Given the description of an element on the screen output the (x, y) to click on. 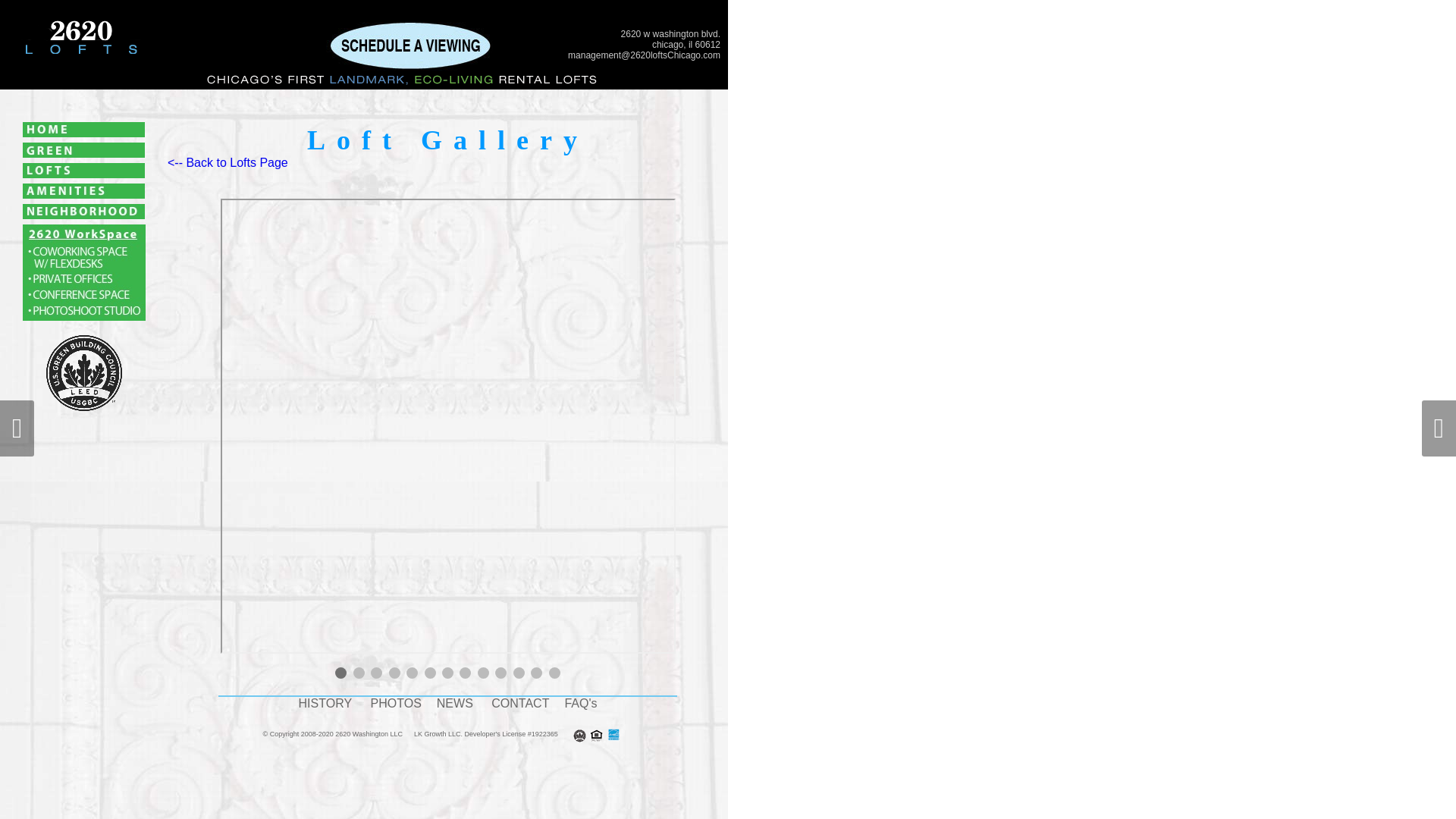
PHOTOS Element type: text (396, 703)
FAQ's Element type: text (580, 703)
CONTACT Element type: text (519, 703)
NEWS Element type: text (454, 703)
HISTORY Element type: text (325, 703)
<-- Back to Lofts Page Element type: text (227, 162)
